Given the description of an element on the screen output the (x, y) to click on. 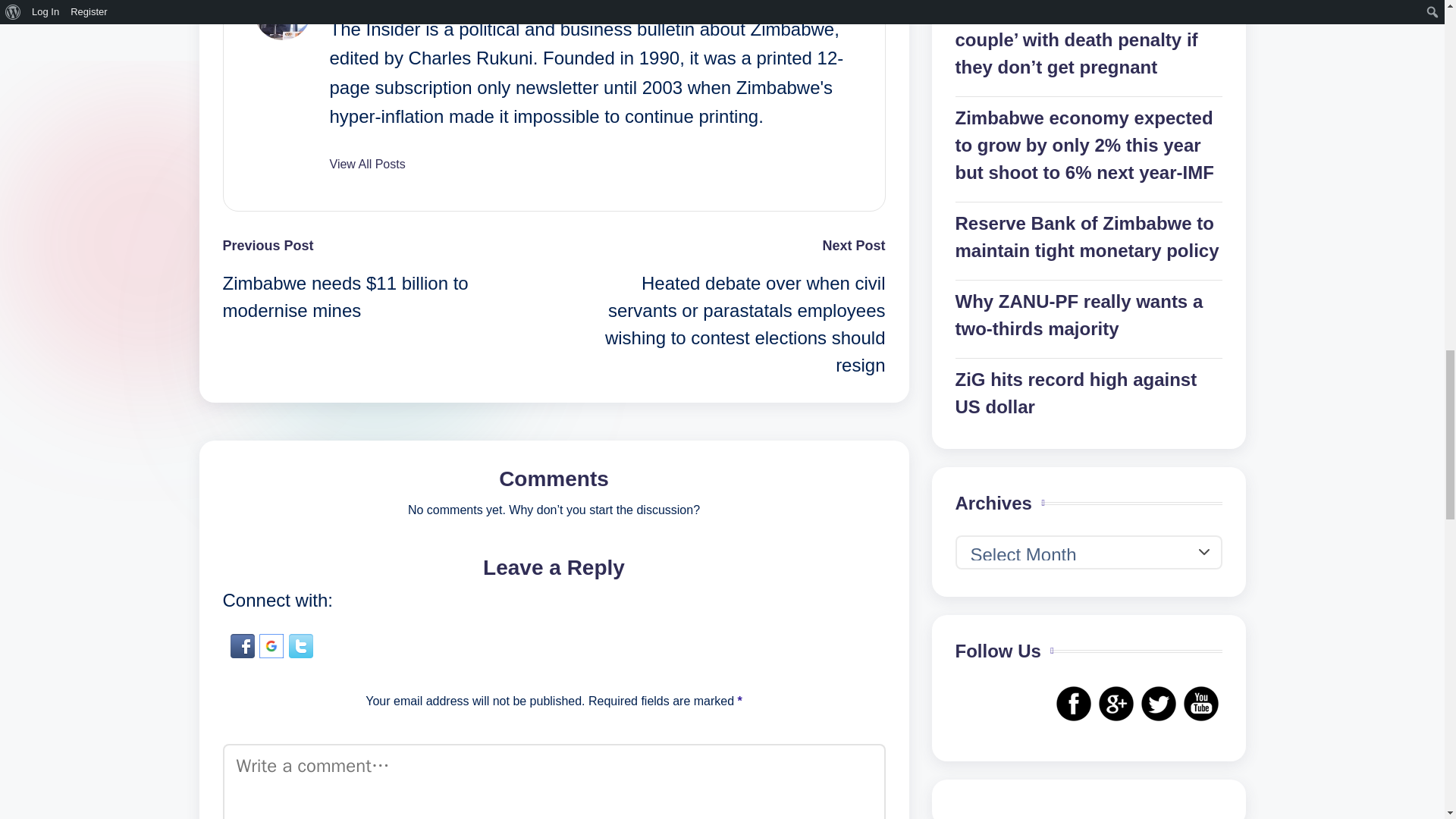
Connect with Facebook (245, 643)
Connect with Google (273, 643)
View All Posts (366, 164)
Connect with Twitter (300, 643)
Charles Rukuni (396, 2)
